Given the description of an element on the screen output the (x, y) to click on. 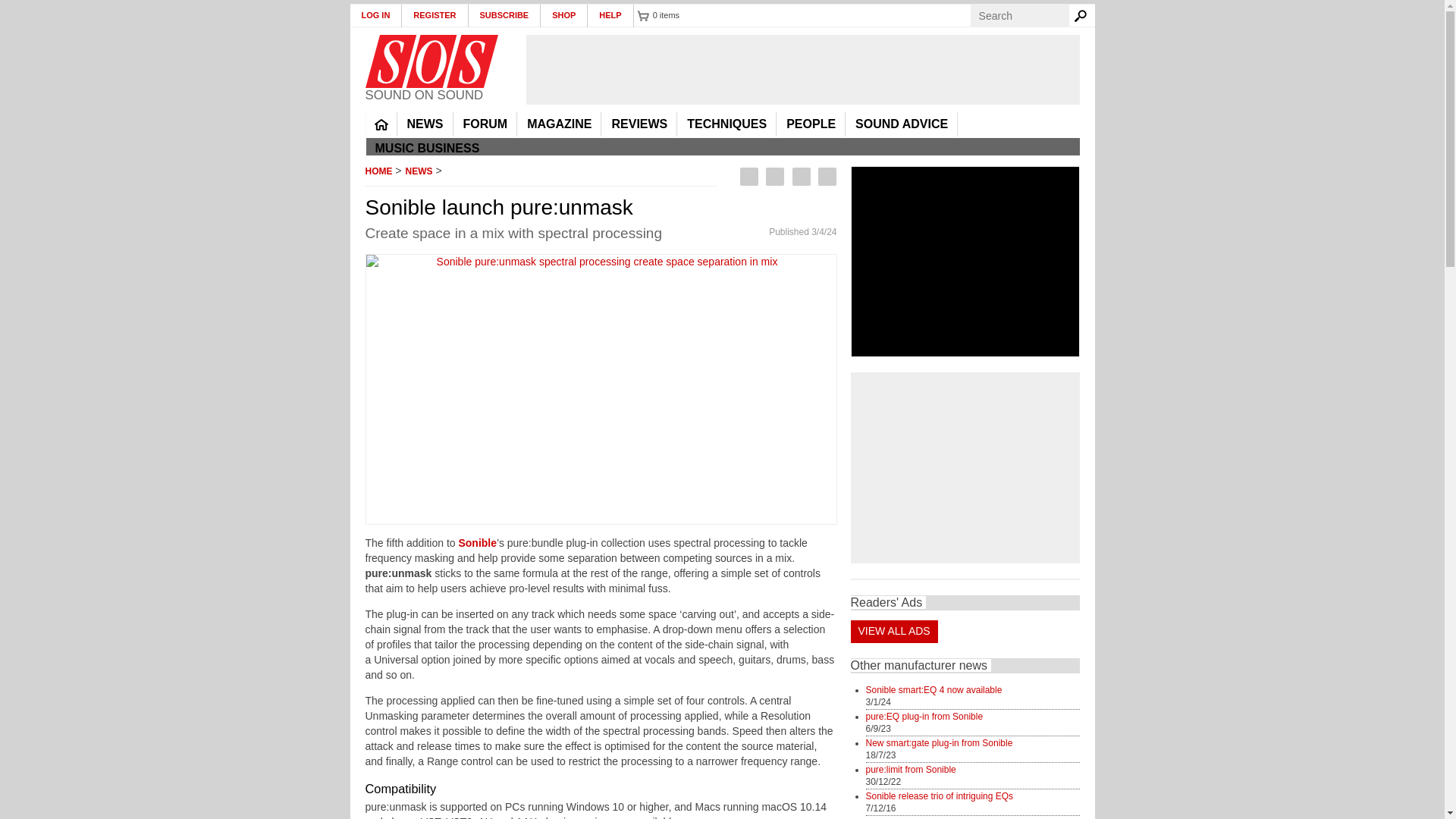
MAGAZINE (558, 124)
Search (1082, 15)
REVIEWS (639, 124)
HOME (380, 124)
LOG IN (376, 15)
FORUM (484, 124)
REGISTER (434, 15)
Search (1082, 15)
Home (431, 61)
